Given the description of an element on the screen output the (x, y) to click on. 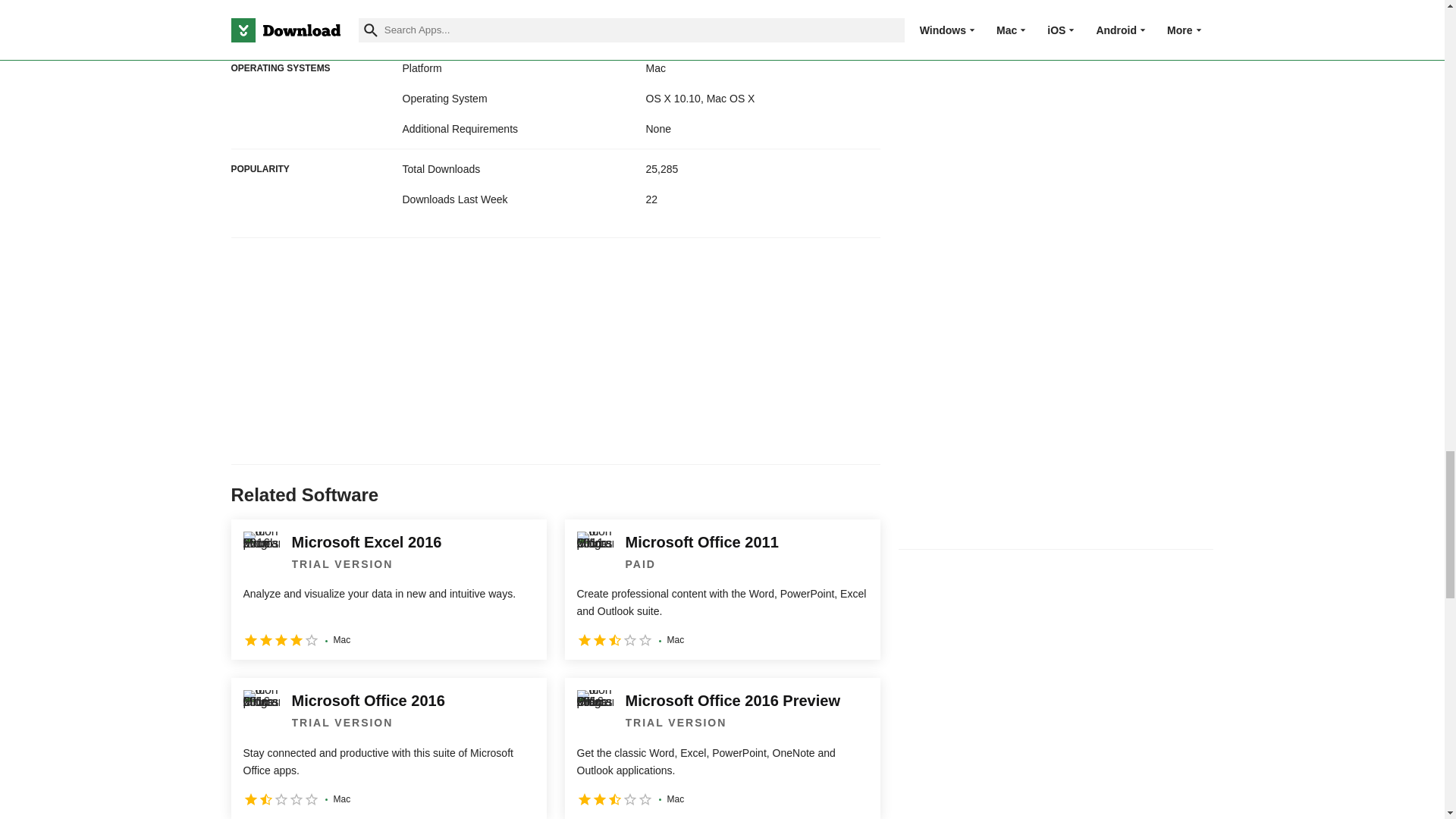
Microsoft Excel 2016 (388, 589)
Microsoft Office 2011 (721, 589)
Microsoft Office 2016 Preview (721, 748)
Microsoft Office 2016 (388, 748)
